Given the description of an element on the screen output the (x, y) to click on. 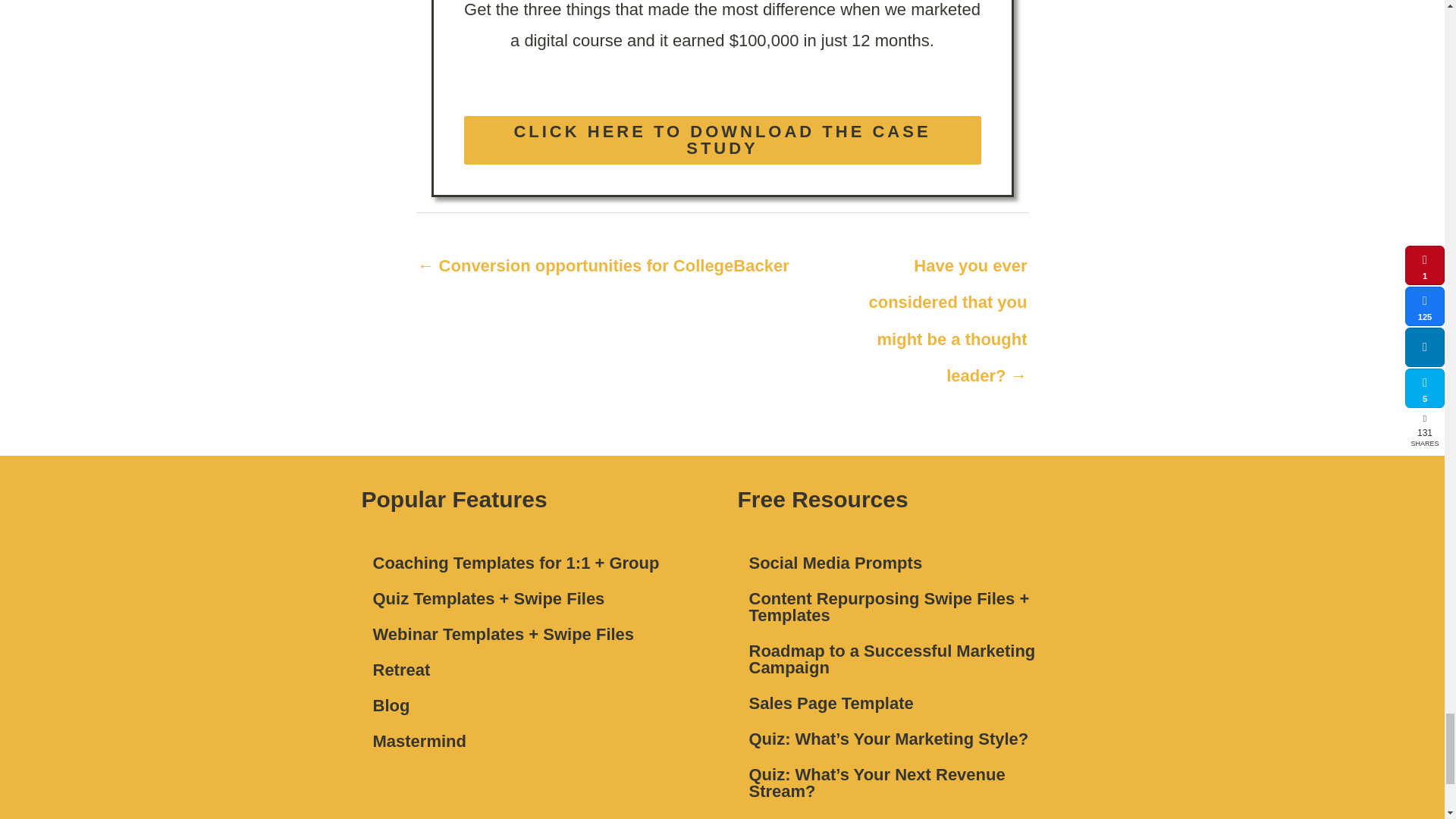
CLICK HERE TO DOWNLOAD THE CASE STUDY (722, 140)
Mastermind (534, 741)
Blog (534, 705)
Retreat (534, 670)
